Given the description of an element on the screen output the (x, y) to click on. 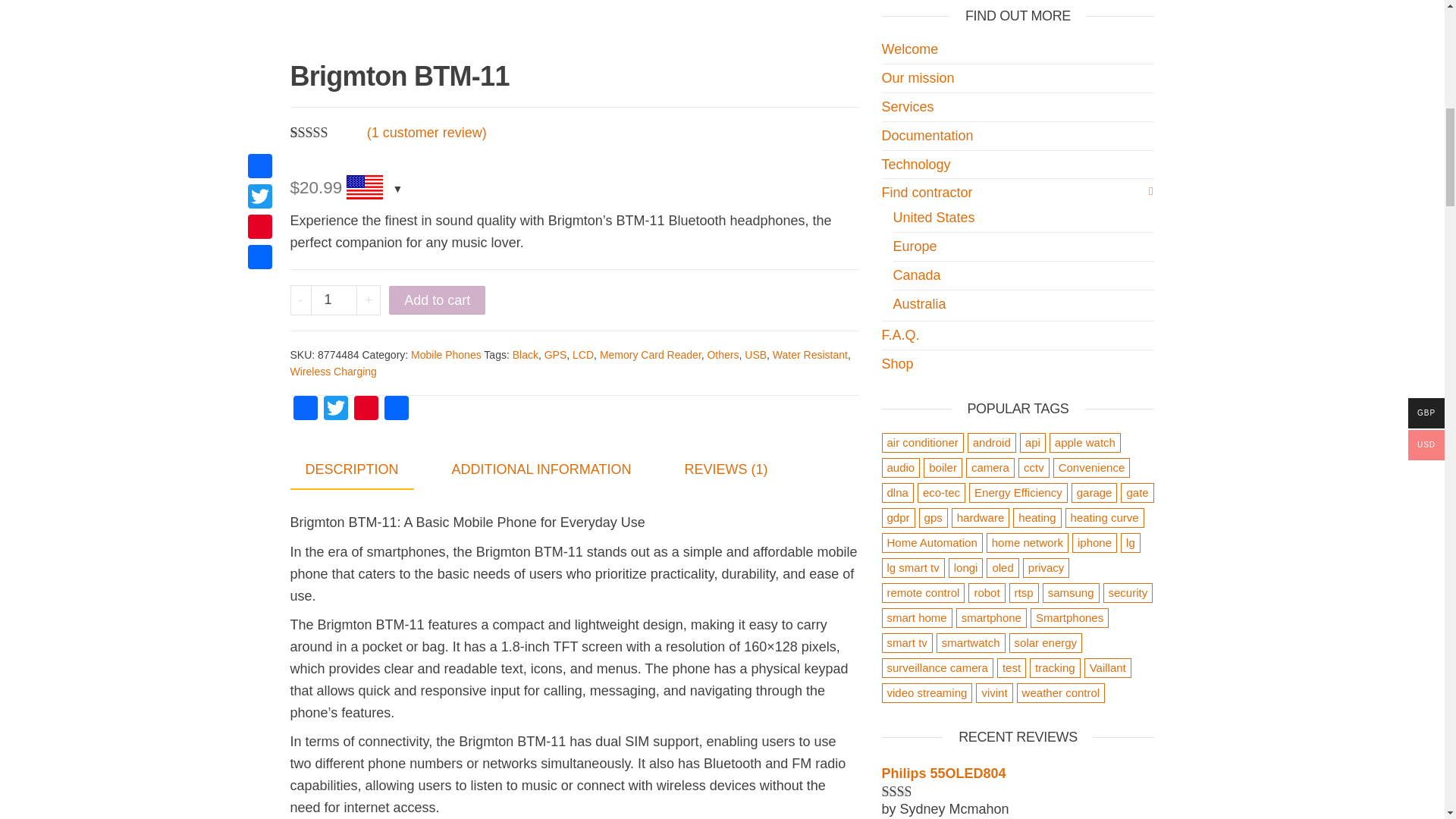
Facebook (304, 409)
Twitter (335, 409)
Add to cart (437, 300)
Twitter (335, 409)
Share (395, 409)
Black (525, 354)
Water Resistant (810, 354)
Brigmton-BTM-11.jpg (574, 17)
Memory Card Reader (650, 354)
GPS (555, 354)
